Given the description of an element on the screen output the (x, y) to click on. 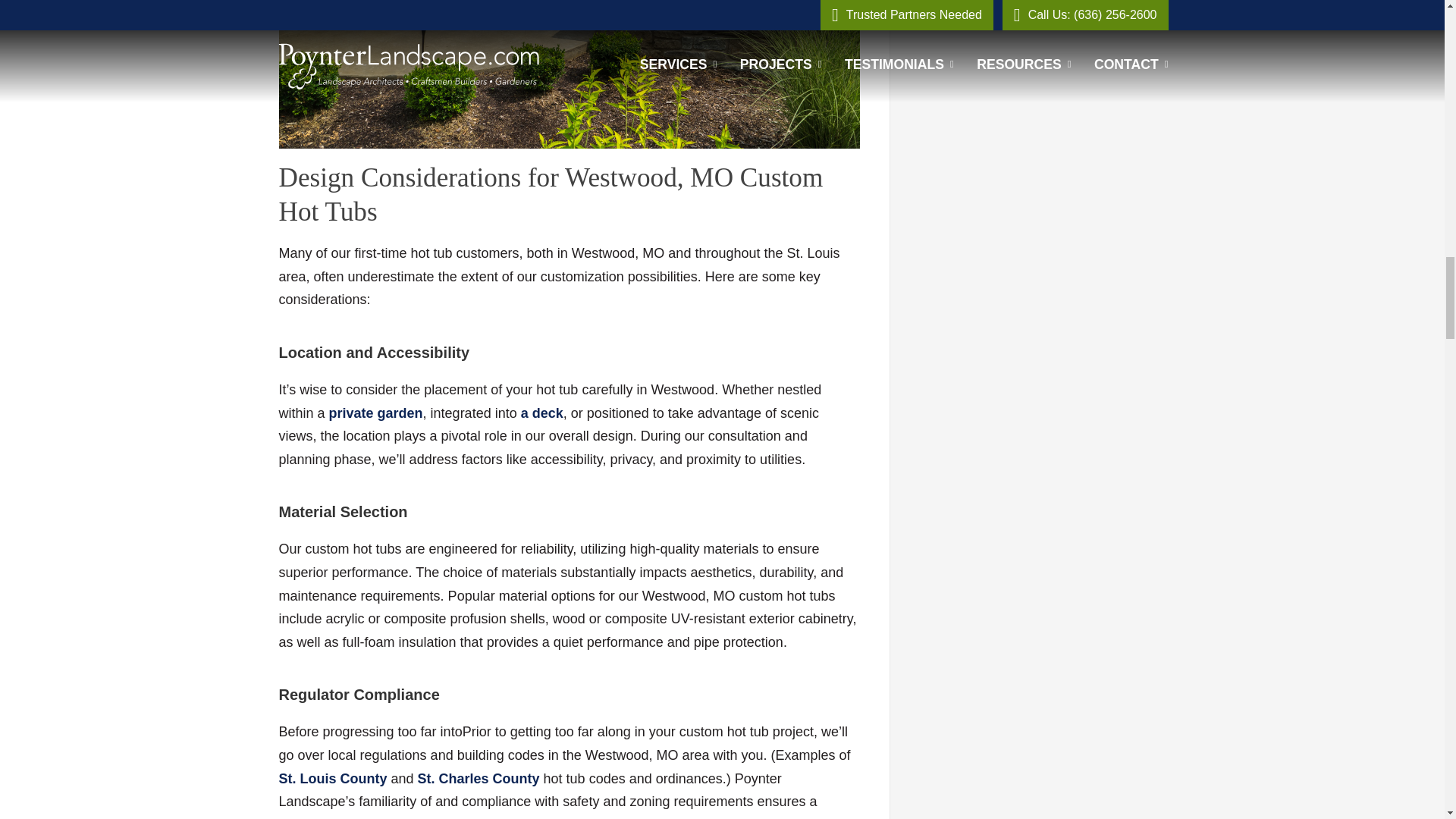
Custom Hot Tubs Westwood, MO - sccmo.org (478, 778)
Custom Hot Tubs Westwood, MO - municode.com (333, 778)
